Given the description of an element on the screen output the (x, y) to click on. 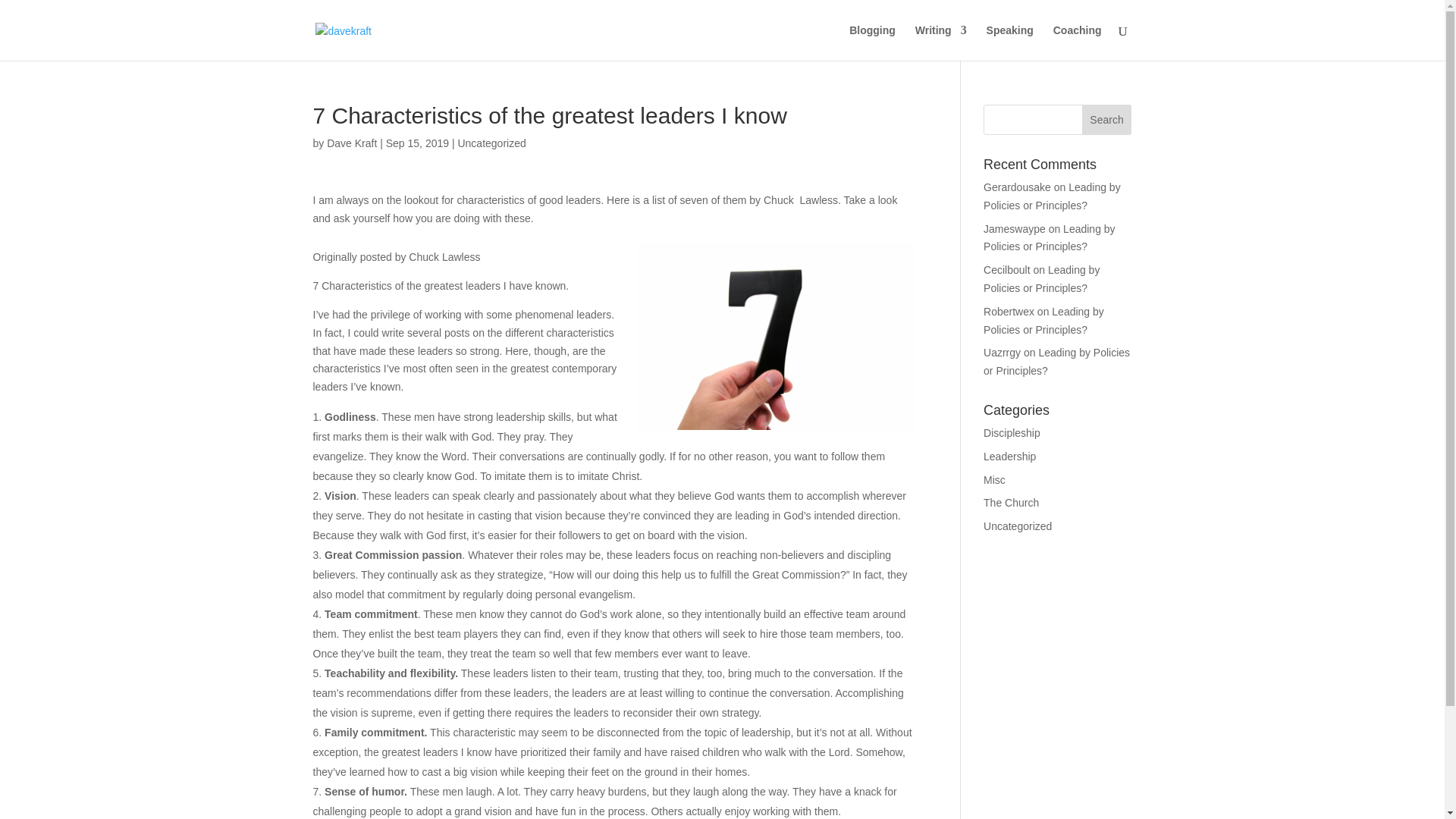
Uncategorized (1017, 526)
Coaching (1077, 42)
Leadership (1009, 456)
The Church (1011, 502)
Uncategorized (491, 143)
Discipleship (1012, 432)
Leading by Policies or Principles? (1043, 320)
Search (1106, 119)
Search (1106, 119)
Speaking (1010, 42)
Leading by Policies or Principles? (1056, 361)
Leading by Policies or Principles? (1052, 195)
Robertwex (1008, 311)
Dave Kraft (351, 143)
Cecilboult (1006, 269)
